Given the description of an element on the screen output the (x, y) to click on. 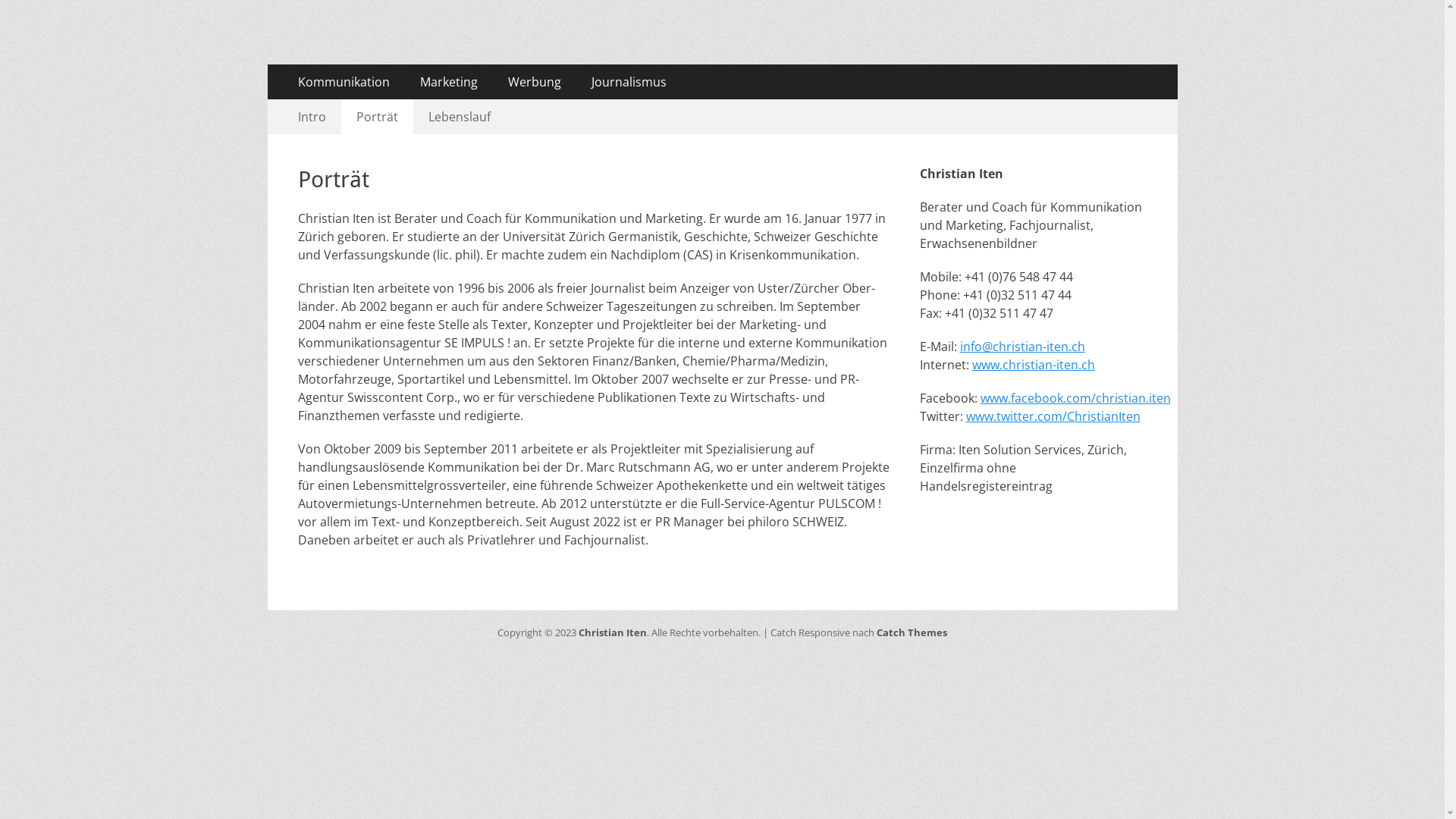
www.facebook.com/christian.iten Element type: text (1074, 397)
Suche Element type: text (31, 13)
www.christian-iten.ch Element type: text (1033, 364)
Christian Iten Element type: text (394, 48)
Werbung Element type: text (534, 81)
Lebenslauf Element type: text (458, 116)
www.twitter.com/ChristianIten Element type: text (1053, 415)
Catch Themes Element type: text (911, 632)
Marketing Element type: text (448, 81)
Journalismus Element type: text (628, 81)
info@christian-iten.ch Element type: text (1022, 346)
Kommunikation Element type: text (343, 81)
Christian Iten Element type: text (612, 632)
Intro Element type: text (311, 116)
